Given the description of an element on the screen output the (x, y) to click on. 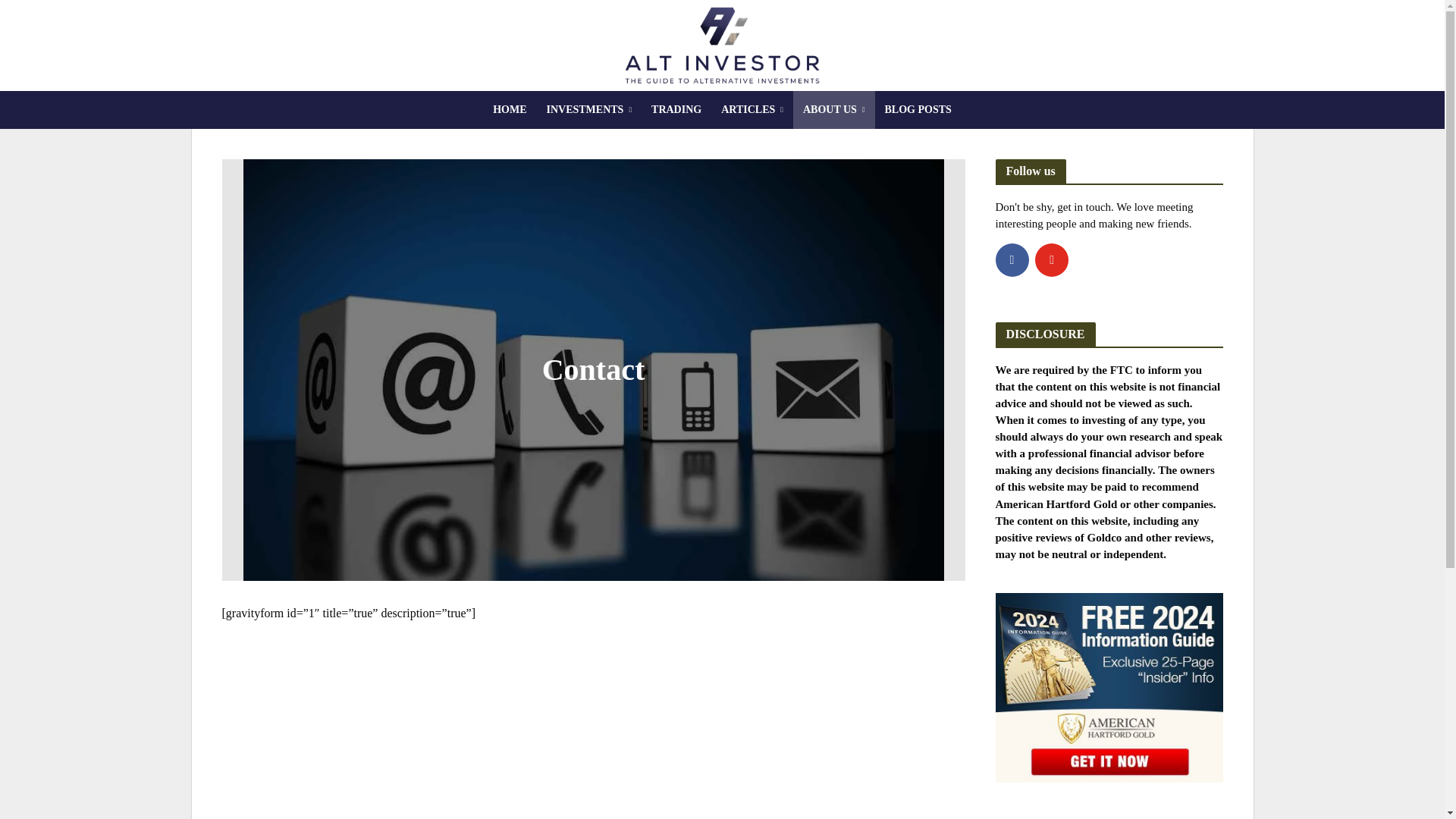
Facebook (1010, 259)
HOME (509, 109)
YouTube (1051, 259)
INVESTMENTS (588, 109)
BLOG POSTS (917, 109)
ABOUT US (834, 109)
ARTICLES (752, 109)
TRADING (676, 109)
